Given the description of an element on the screen output the (x, y) to click on. 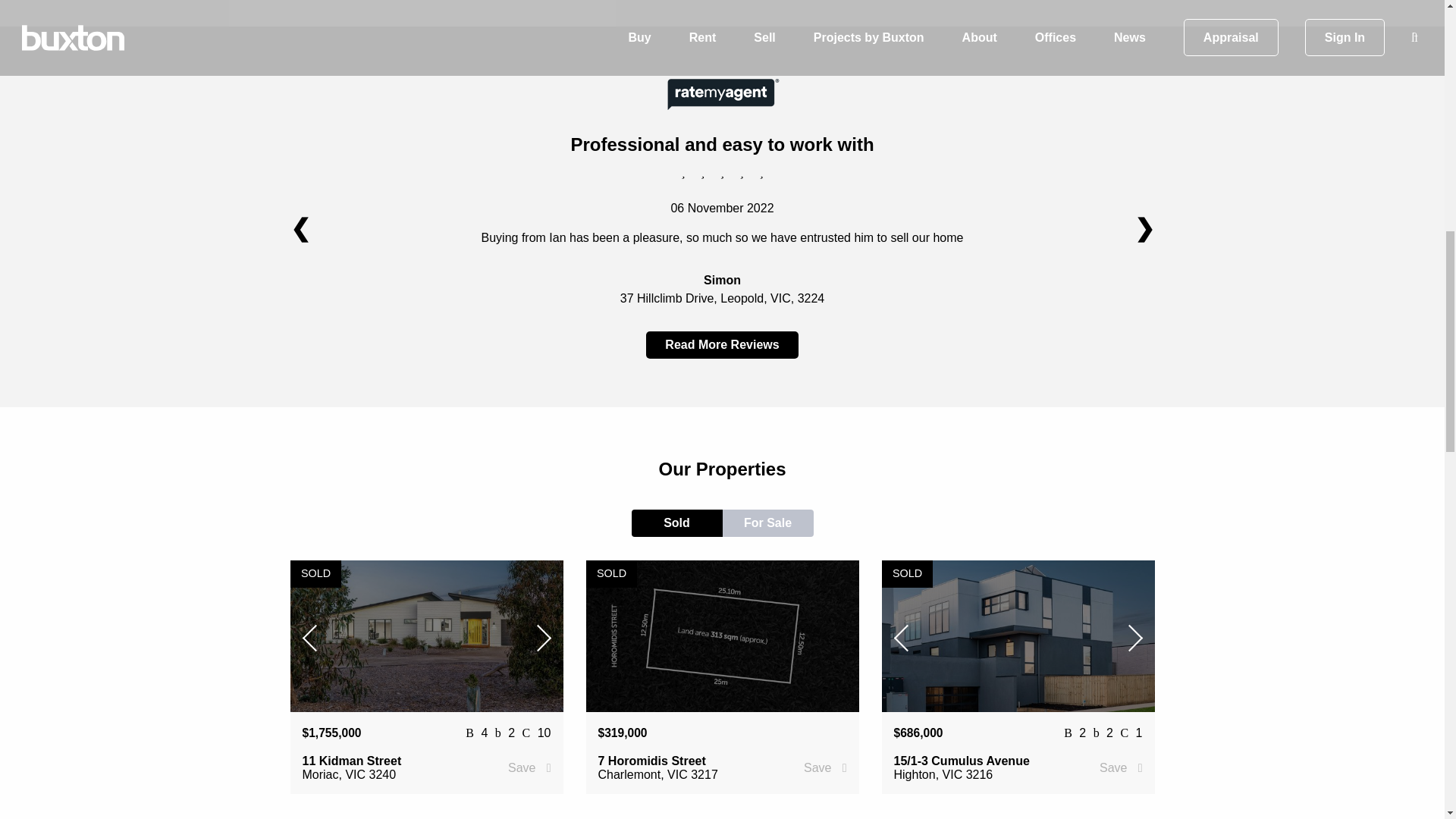
None - Photo 1 (425, 635)
Save (824, 767)
Read More Reviews (721, 344)
For Sale (767, 523)
None - Photo 21 (152, 635)
Sold (676, 523)
Rate My Agent (721, 94)
Next (535, 635)
Previous (313, 635)
Save (529, 767)
Previous (905, 635)
